Given the description of an element on the screen output the (x, y) to click on. 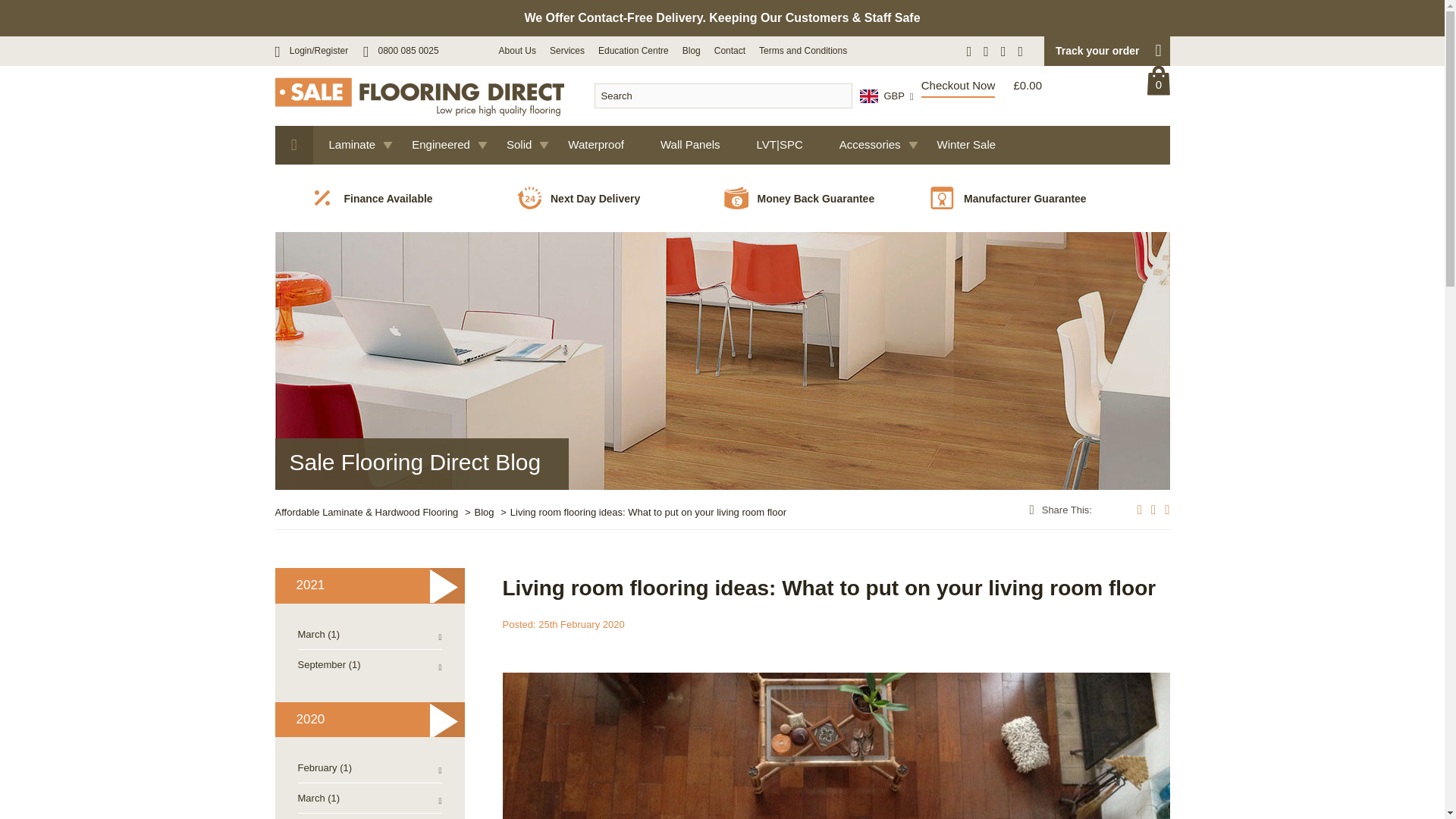
Terms and Conditions (802, 50)
Education Centre (633, 50)
Blog (492, 511)
Contact (729, 50)
Services (567, 50)
Laminate (354, 145)
Terms and Conditions (802, 50)
Blog (691, 50)
Track your order (1106, 51)
